Given the description of an element on the screen output the (x, y) to click on. 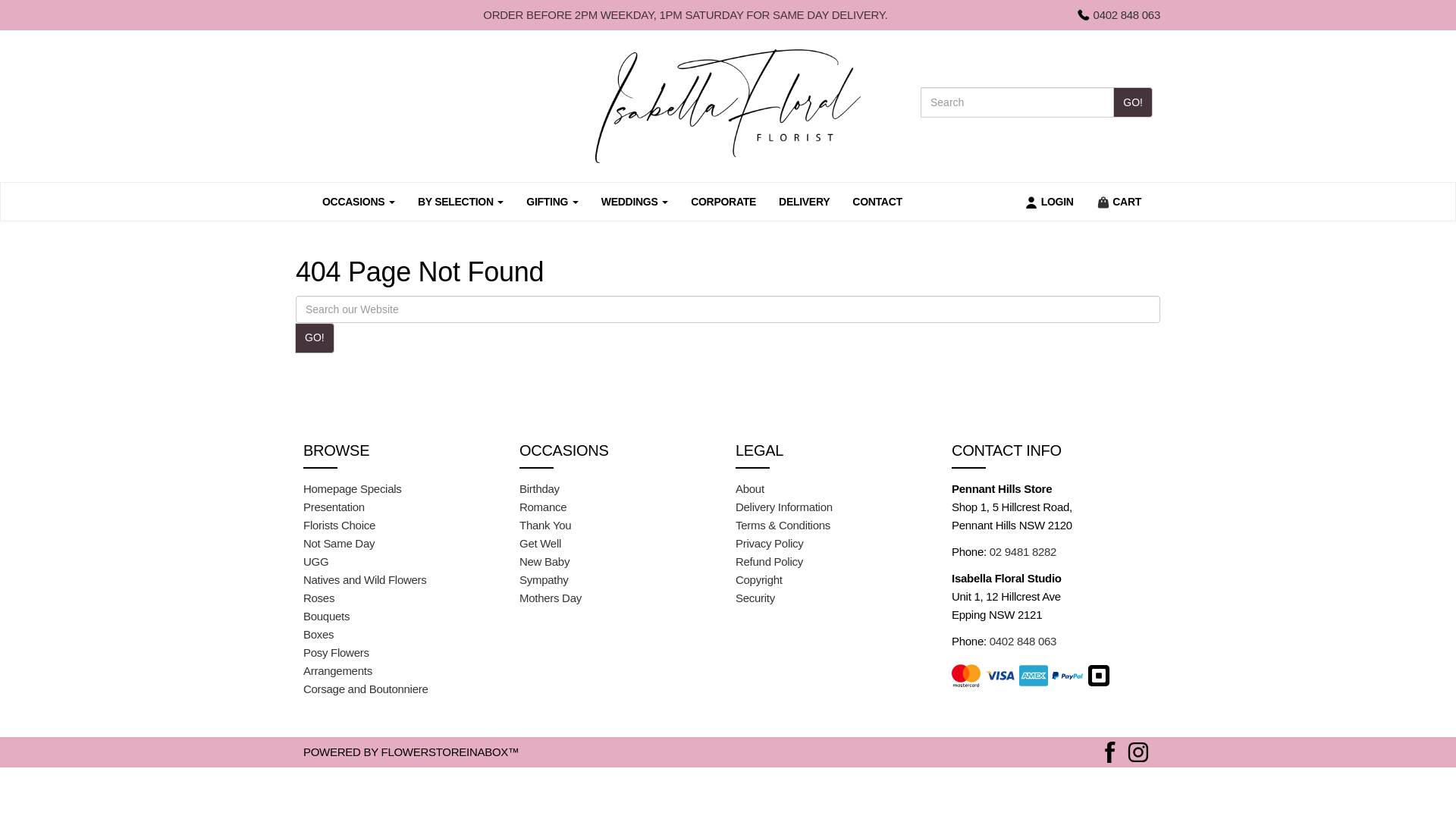
Refund Policy Element type: text (769, 561)
Not Same Day Element type: text (338, 542)
CART Element type: text (1118, 201)
Privacy Policy Element type: text (769, 542)
BY SELECTION Element type: text (460, 201)
0402 848 063 Element type: text (1022, 640)
Bouquets Element type: text (326, 615)
About Element type: text (749, 488)
UGG Element type: text (315, 561)
Sympathy Element type: text (543, 579)
Presentation Element type: text (333, 506)
Get Well Element type: text (540, 542)
Natives and Wild Flowers Element type: text (364, 579)
WEDDINGS Element type: text (634, 201)
Mothers Day Element type: text (550, 597)
Corsage and Boutonniere Element type: text (365, 688)
LOGIN Element type: text (1049, 201)
OCCASIONS Element type: text (358, 201)
Copyright Element type: text (758, 579)
Boxes Element type: text (318, 633)
Posy Flowers Element type: text (336, 652)
instagram Element type: text (1137, 750)
Roses Element type: text (318, 597)
GO! Element type: text (314, 338)
GIFTING Element type: text (551, 201)
GO! Element type: text (1132, 102)
0402 848 063 Element type: text (1117, 14)
Arrangements Element type: text (337, 670)
DELIVERY Element type: text (803, 201)
CORPORATE Element type: text (723, 201)
Isabella Floral Element type: hover (727, 106)
Delivery Information Element type: text (783, 506)
CONTACT Element type: text (876, 201)
New Baby Element type: text (544, 561)
Florists Choice Element type: text (339, 524)
Birthday Element type: text (539, 488)
Romance Element type: text (542, 506)
Security Element type: text (755, 597)
Homepage Specials Element type: text (352, 488)
02 9481 8282 Element type: text (1022, 551)
Terms & Conditions Element type: text (782, 524)
Thank You Element type: text (545, 524)
